Given the description of an element on the screen output the (x, y) to click on. 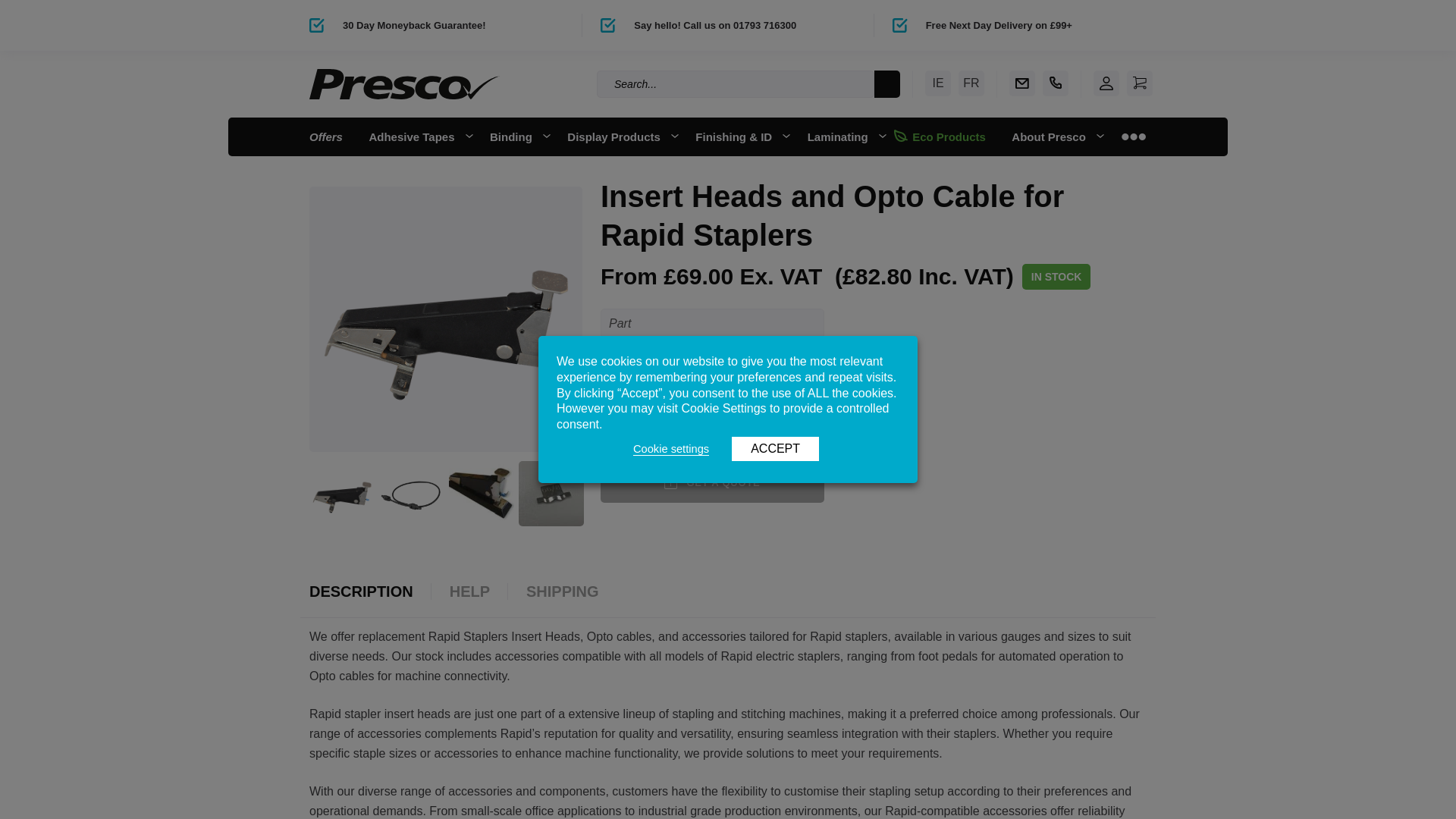
Display Products (617, 136)
Search (887, 83)
Search (887, 83)
Offers (325, 136)
Adhesive Tapes (415, 136)
Search... (735, 83)
Binding (515, 136)
Search (887, 83)
IE (937, 83)
1 (702, 391)
FR (971, 83)
